Given the description of an element on the screen output the (x, y) to click on. 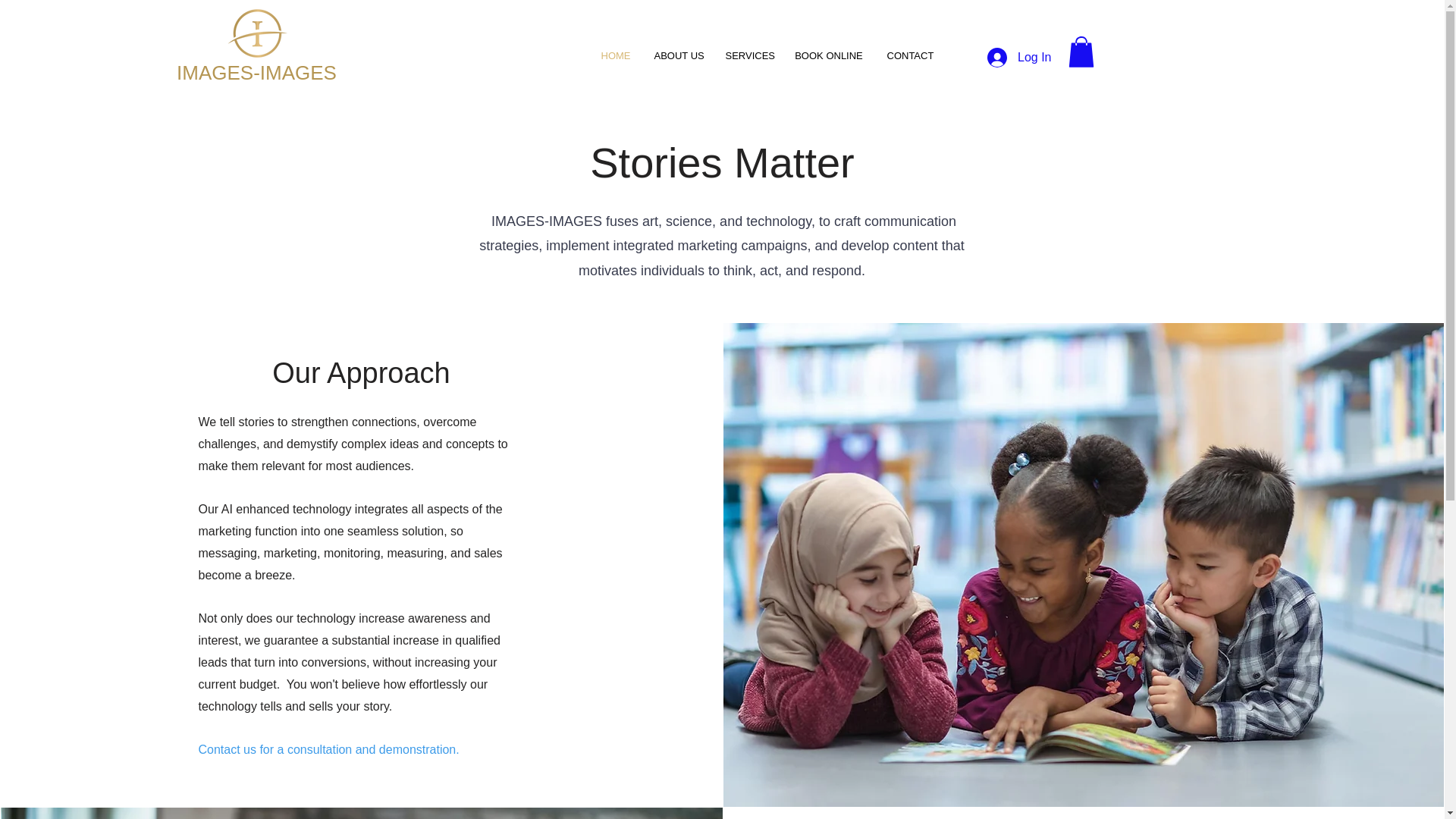
CONTACT (909, 56)
HOME (615, 56)
BOOK ONLINE (829, 56)
ABOUT US (678, 56)
Log In (1018, 57)
Contact us for a consultation and demonstration (326, 748)
SERVICES (748, 56)
